Given the description of an element on the screen output the (x, y) to click on. 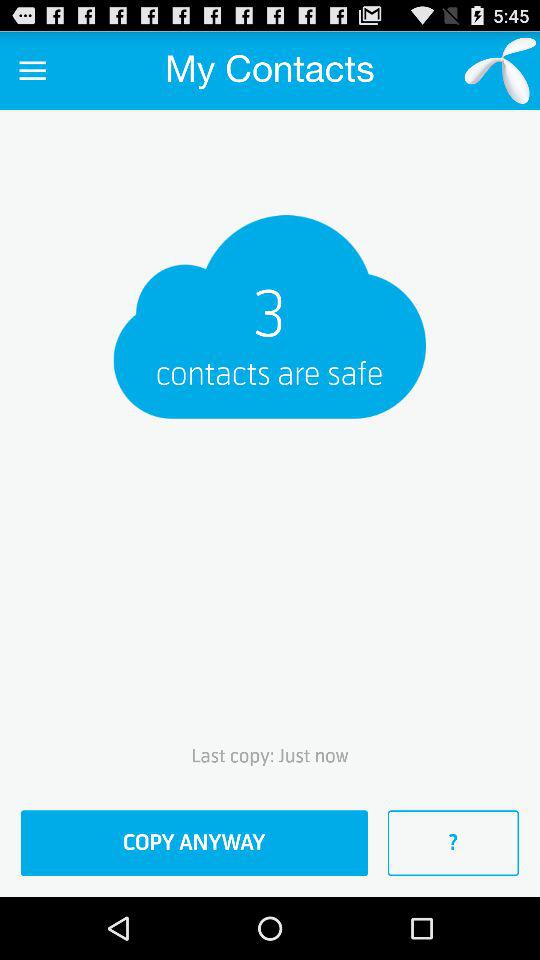
launch the icon next to  ?  icon (194, 843)
